Given the description of an element on the screen output the (x, y) to click on. 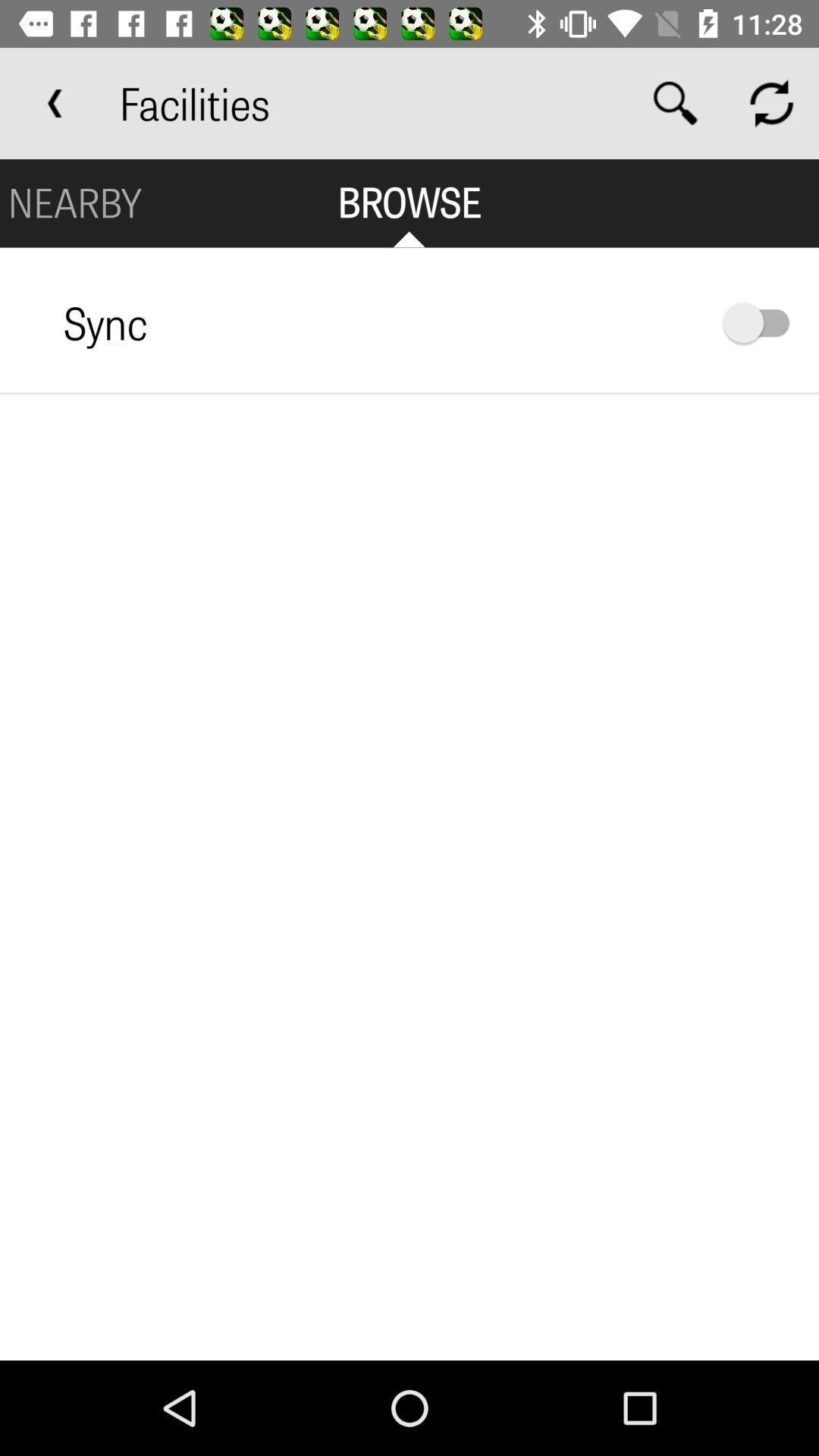
turn off the item next to sync item (763, 322)
